Given the description of an element on the screen output the (x, y) to click on. 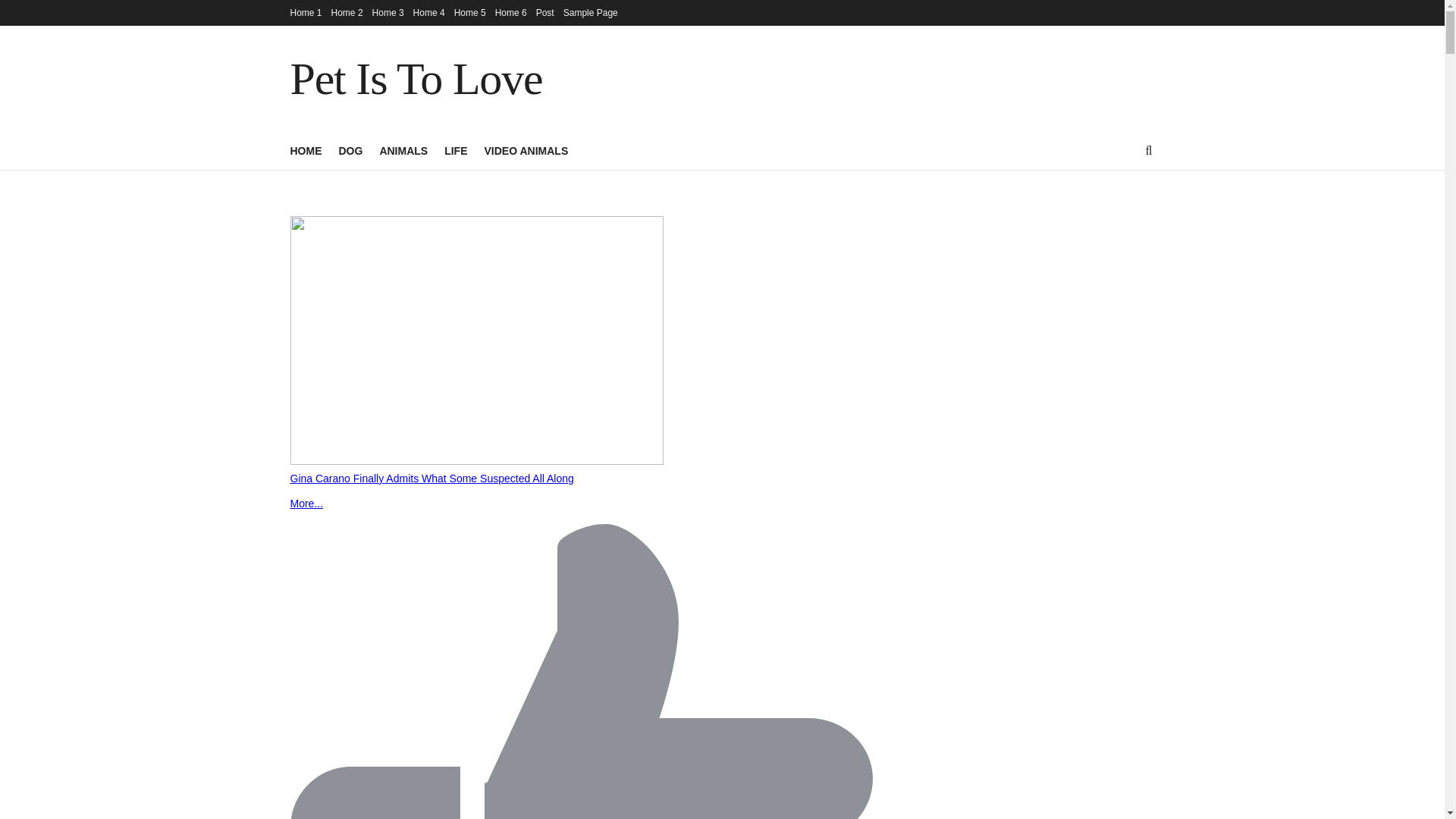
Home 3 (388, 12)
Sample Page (590, 12)
VIDEO ANIMALS (526, 150)
DOG (349, 150)
HOME (305, 150)
Home 1 (305, 12)
Pet Is To Love (415, 78)
Home 5 (470, 12)
LIFE (455, 150)
Home 4 (429, 12)
